Given the description of an element on the screen output the (x, y) to click on. 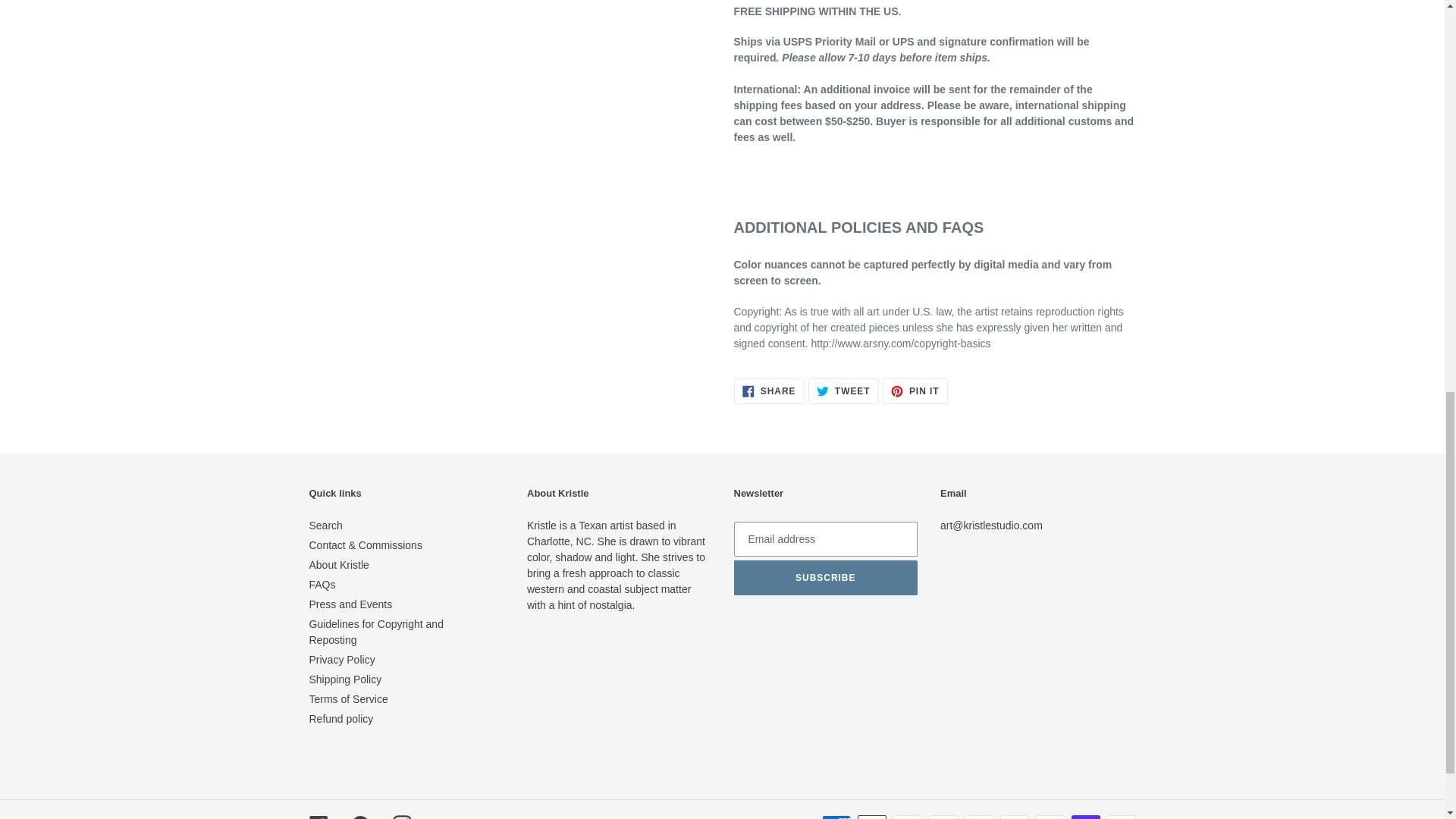
Press and Events (350, 604)
SUBSCRIBE (825, 577)
Facebook (318, 816)
Pinterest (914, 391)
Shipping Policy (359, 816)
Privacy Policy (843, 391)
Instagram (344, 679)
Terms of Service (341, 659)
FAQs (402, 816)
About Kristle (348, 698)
Guidelines for Copyright and Reposting (322, 584)
Search (338, 564)
